Given the description of an element on the screen output the (x, y) to click on. 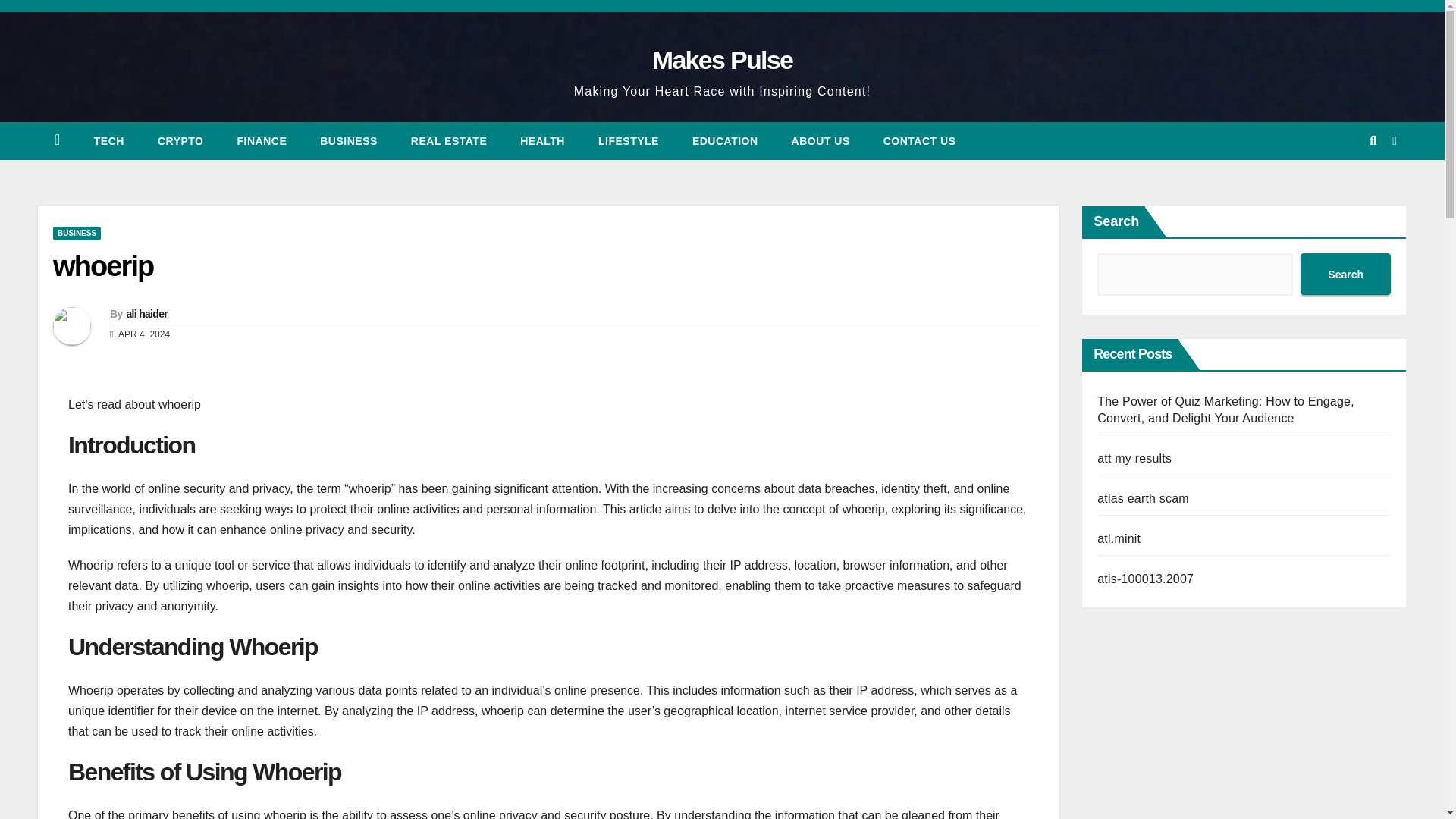
Finance (262, 140)
ABOUT US (820, 140)
Crypto (181, 140)
HEALTH (541, 140)
Lifestyle (627, 140)
FINANCE (262, 140)
TECH (109, 140)
REAL ESTATE (448, 140)
Business (348, 140)
LIFESTYLE (627, 140)
Contact Us (919, 140)
whoerip (102, 265)
Real Estate (448, 140)
Permalink to: whoerip (102, 265)
EDUCATION (724, 140)
